Given the description of an element on the screen output the (x, y) to click on. 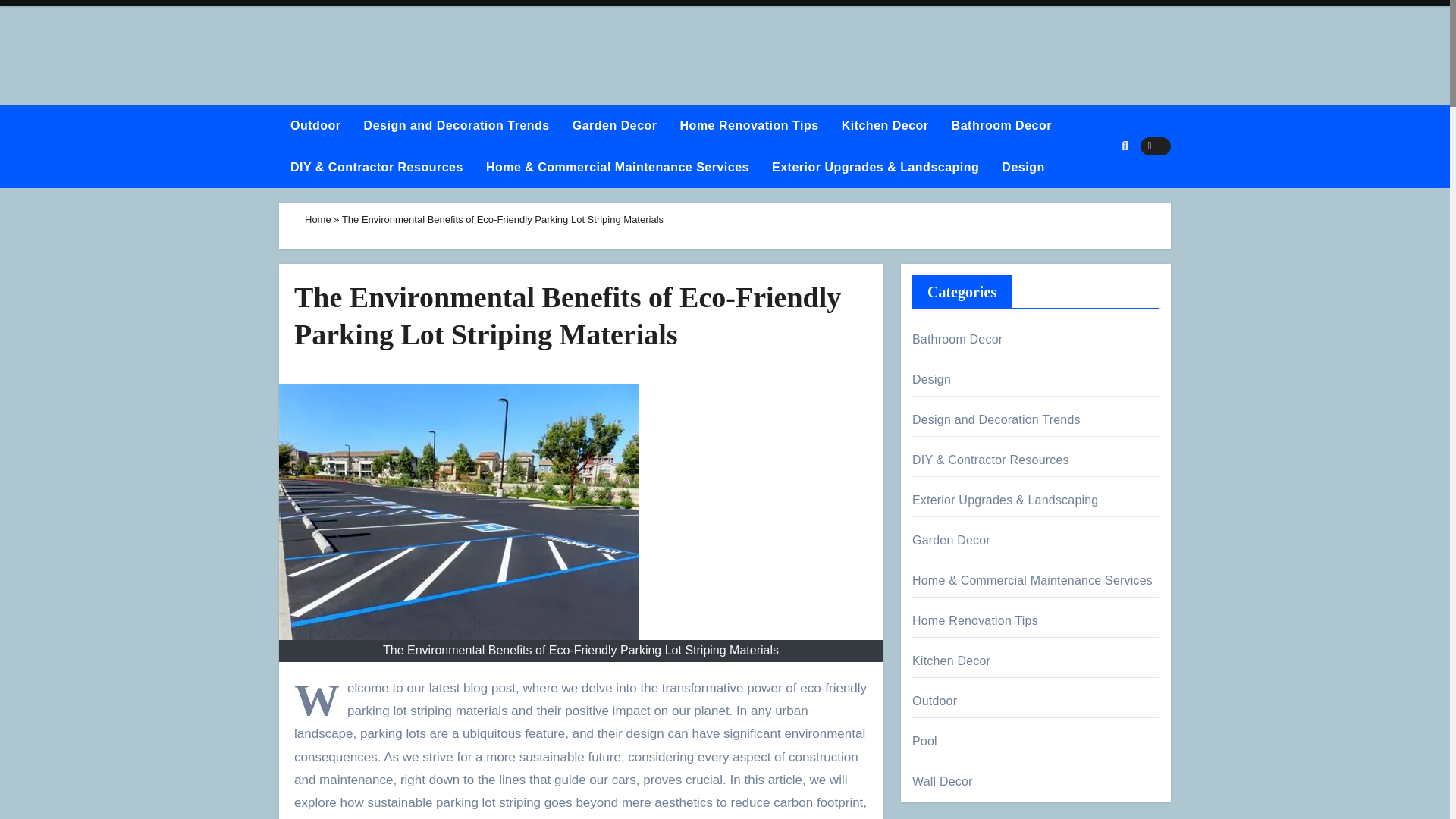
Kitchen Decor (884, 125)
Garden Decor (614, 125)
Home Renovation Tips (748, 125)
Outdoor (315, 125)
Bathroom Decor (1001, 125)
Design and Decoration Trends (456, 125)
Bathroom Decor (1001, 125)
Kitchen Decor (884, 125)
Home (317, 219)
